Given the description of an element on the screen output the (x, y) to click on. 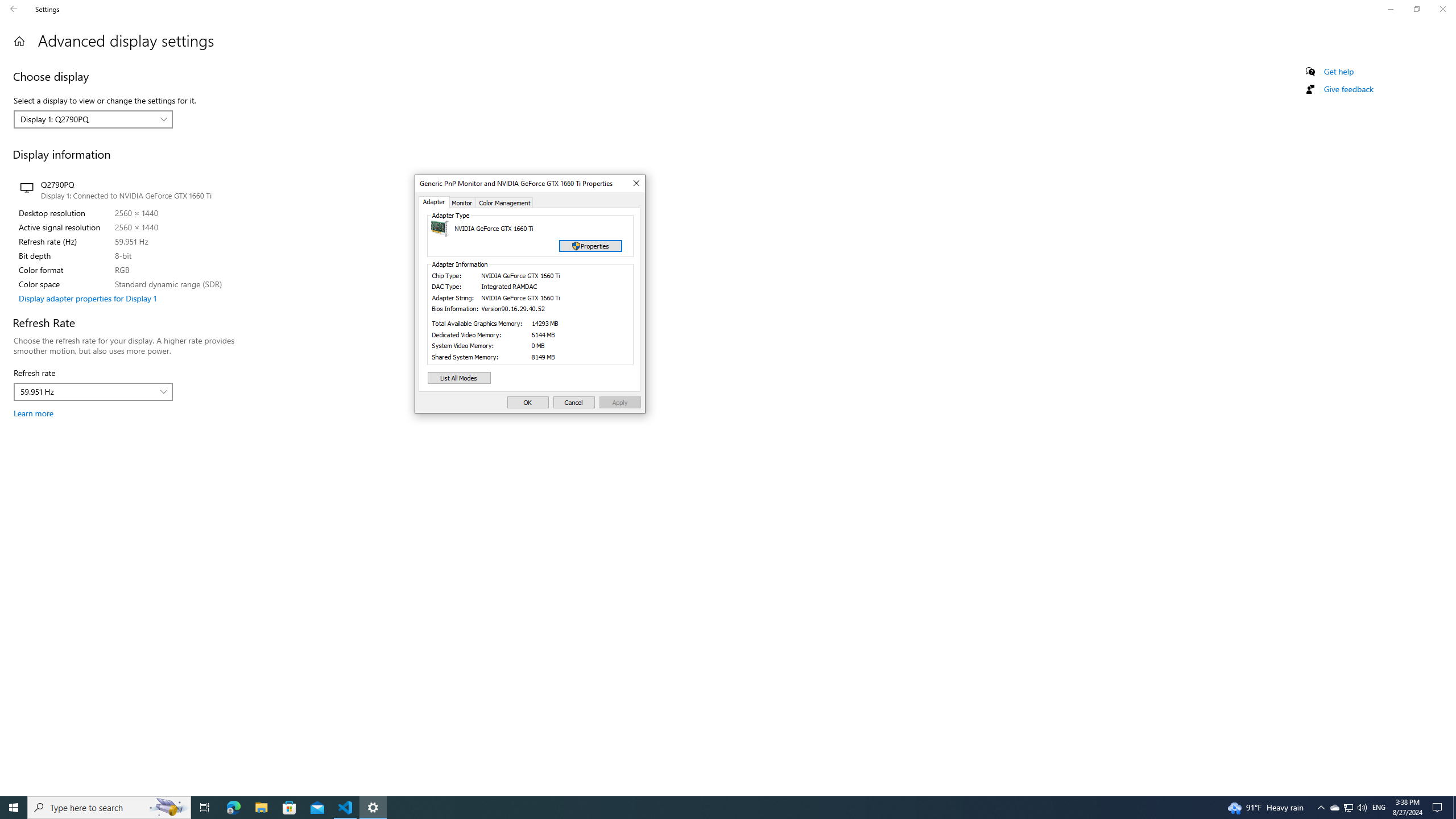
Notification Chevron (1320, 807)
Monitor (1347, 807)
Task View (462, 202)
User Promoted Notification Area (204, 807)
Show desktop (1347, 807)
Microsoft Edge (1454, 807)
Apply (233, 807)
Type here to search (620, 401)
List All Modes (108, 807)
Close (459, 377)
Properties (635, 183)
Visual Studio Code - 1 running window (1333, 807)
